Given the description of an element on the screen output the (x, y) to click on. 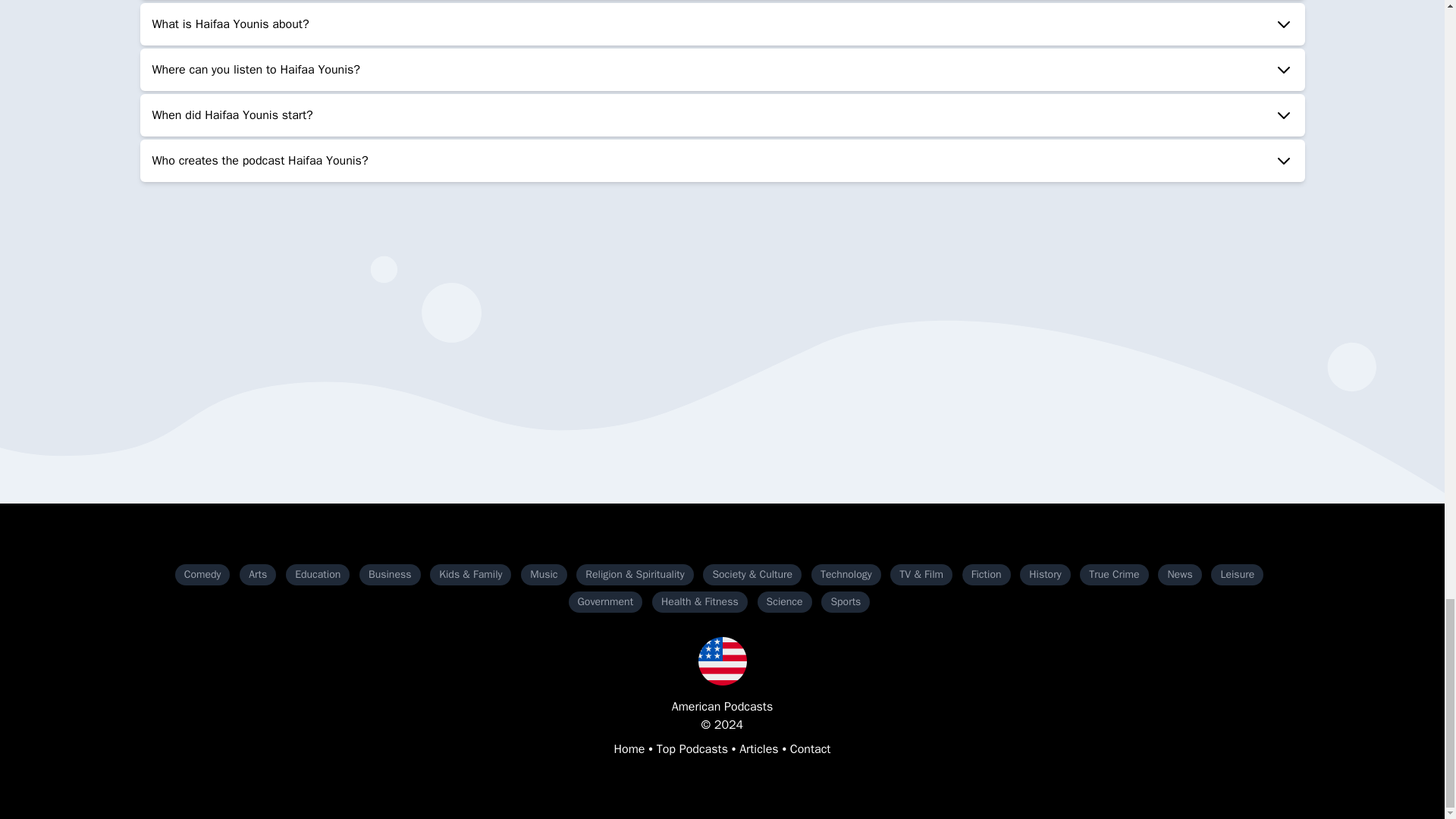
Education (317, 574)
Business (389, 574)
Comedy (202, 574)
Arts (258, 574)
